Given the description of an element on the screen output the (x, y) to click on. 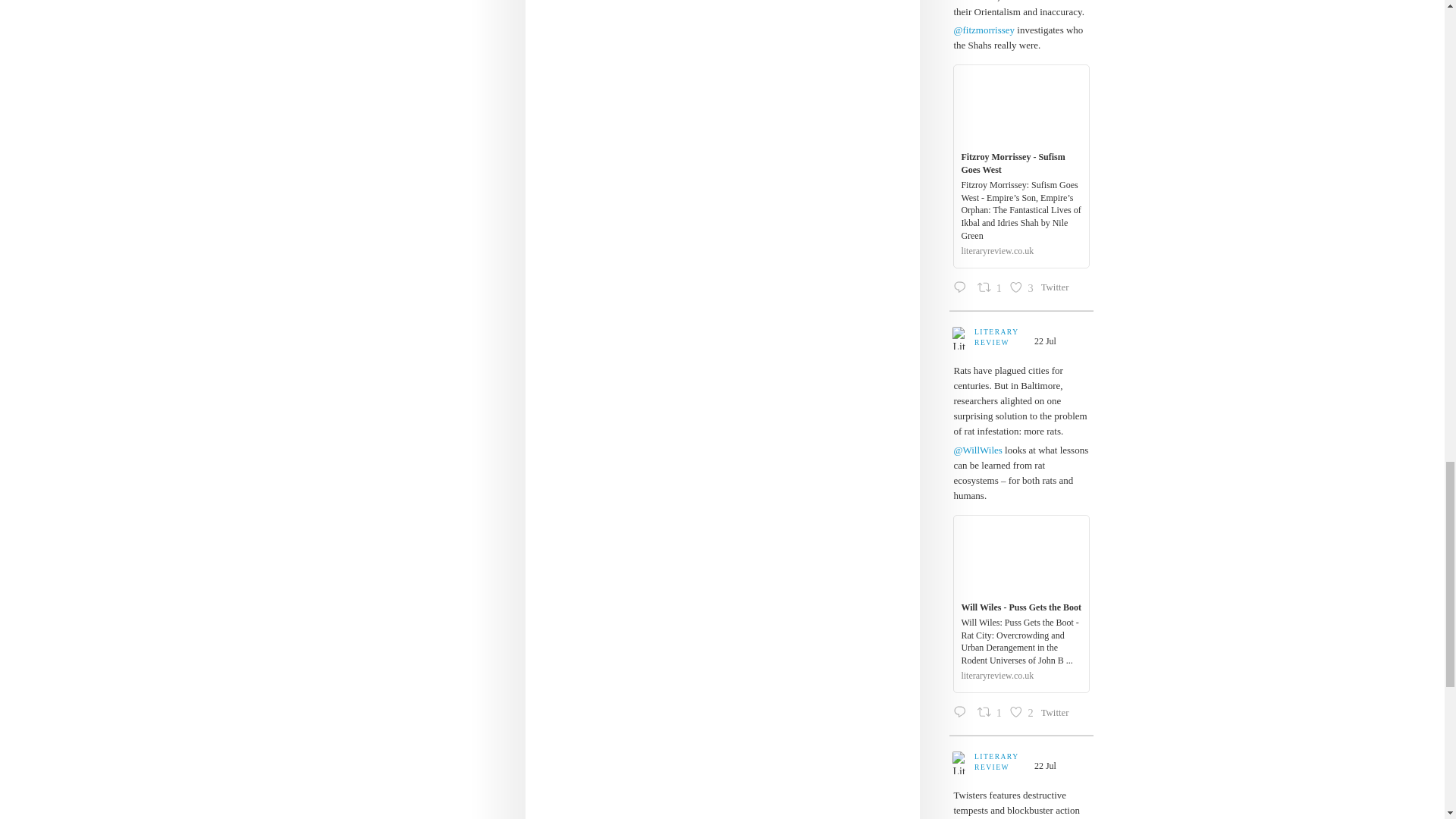
LITERARY REVIEW (1021, 288)
Reply on Twitter 1816095991621124197 (999, 337)
Twitter 1816095991621124197 (961, 288)
; (1055, 288)
